Given the description of an element on the screen output the (x, y) to click on. 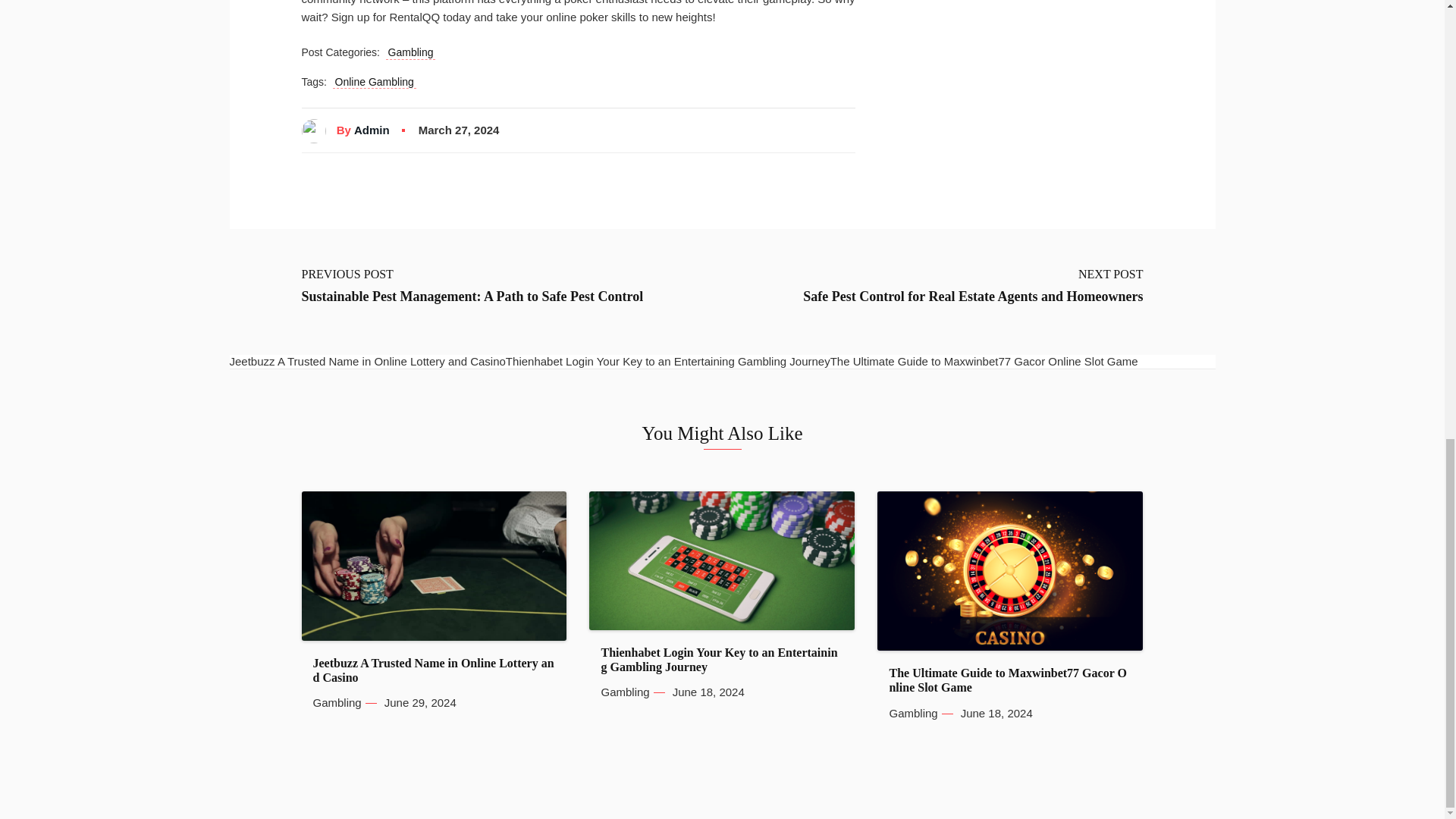
Gambling (410, 52)
Sustainable Pest Management: A Path to Safe Pest Control (472, 297)
Safe Pest Control for Real Estate Agents and Homeowners (972, 297)
June 29, 2024 (420, 703)
Online Gambling (374, 82)
Admin (371, 129)
Gambling (337, 703)
Jeetbuzz A Trusted Name in Online Lottery and Casino (433, 670)
